Given the description of an element on the screen output the (x, y) to click on. 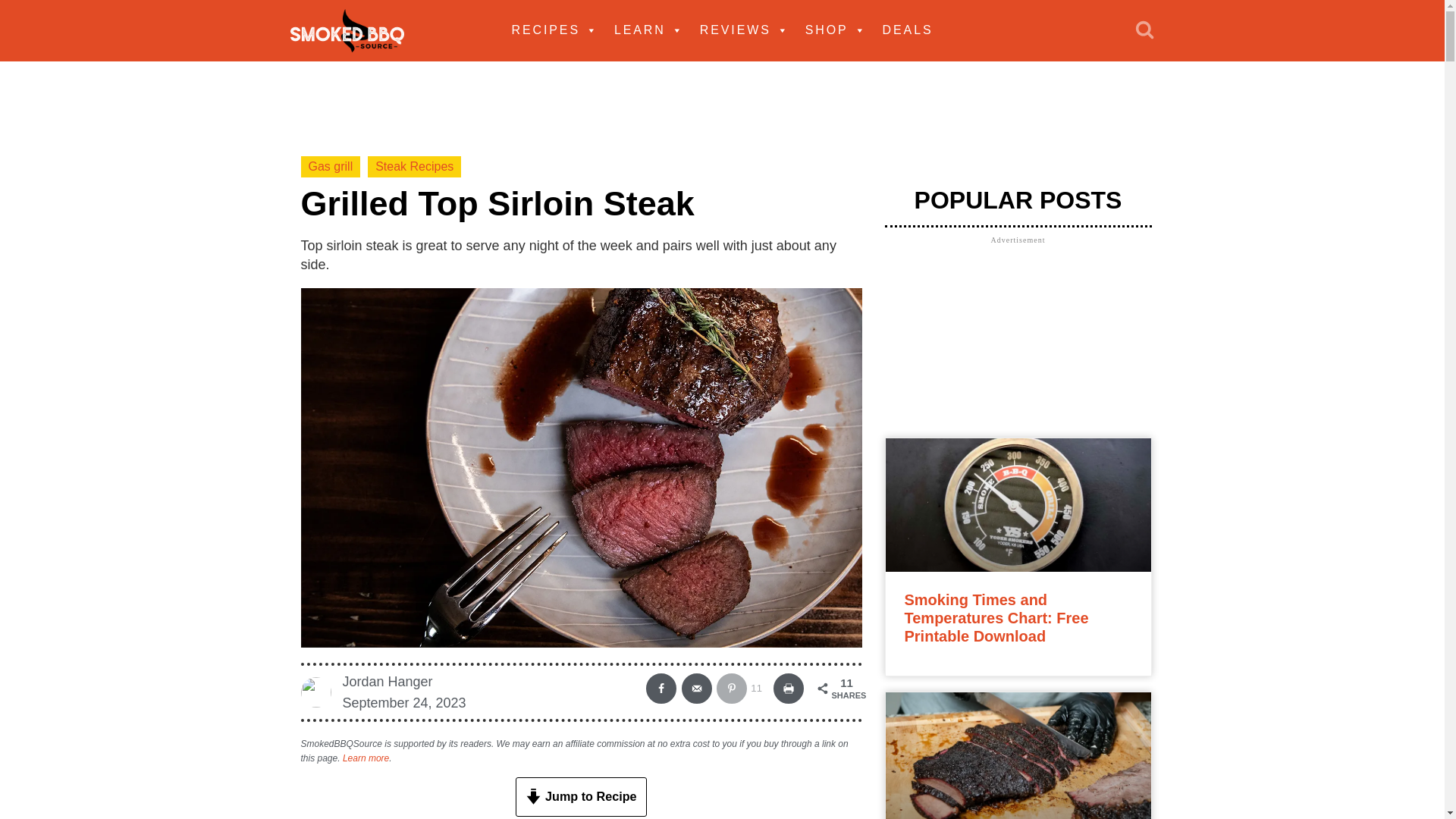
RECIPES (554, 30)
Print this webpage (788, 688)
Send over email (696, 688)
Share on Facebook (661, 688)
Save to Pinterest (742, 688)
LEARN (650, 30)
